Given the description of an element on the screen output the (x, y) to click on. 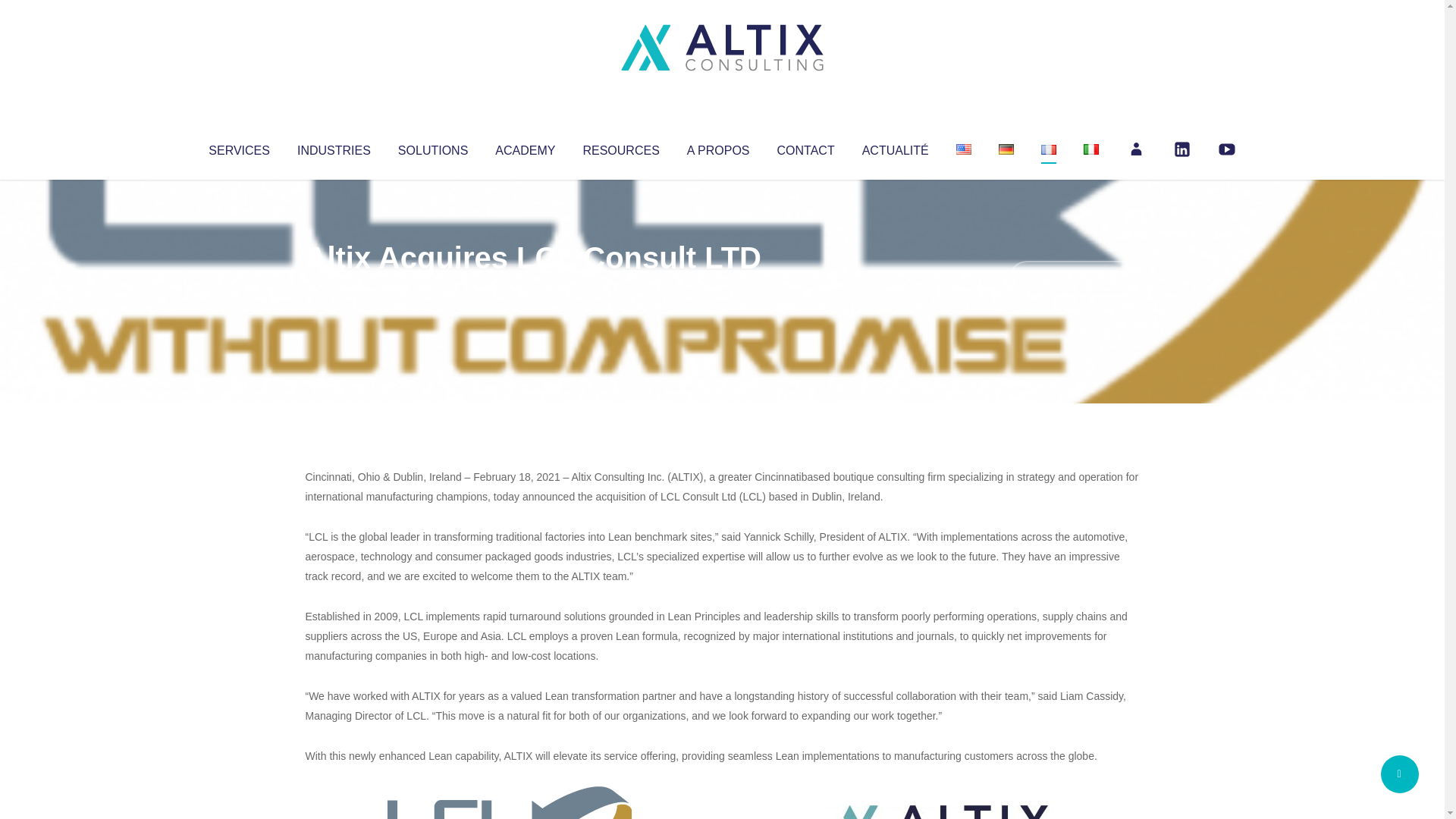
ACADEMY (524, 146)
No Comments (1073, 278)
Uncategorized (530, 287)
Altix (333, 287)
INDUSTRIES (334, 146)
Articles par Altix (333, 287)
RESOURCES (620, 146)
SERVICES (238, 146)
SOLUTIONS (432, 146)
A PROPOS (718, 146)
